Given the description of an element on the screen output the (x, y) to click on. 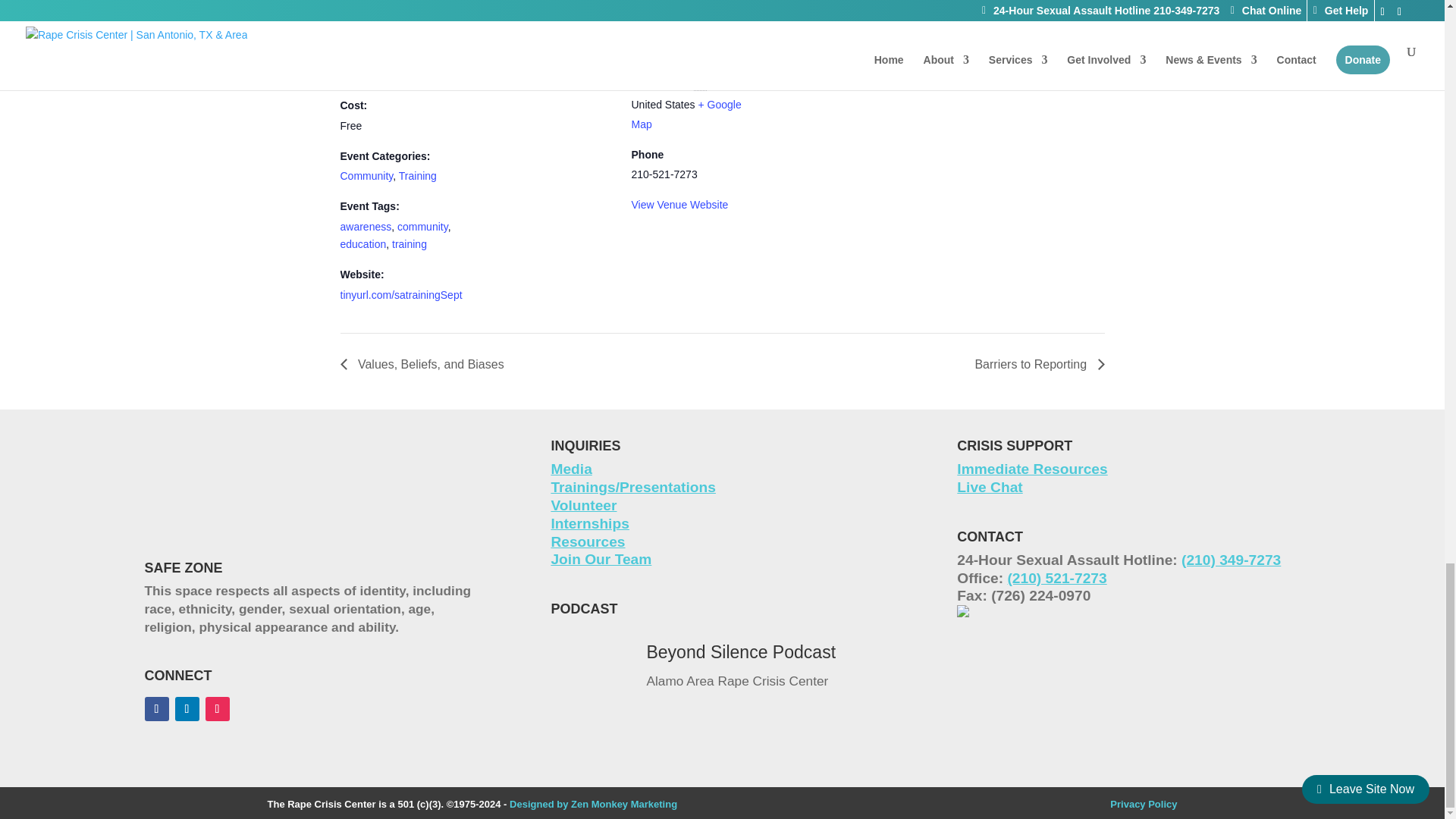
Follow on LinkedIn (186, 708)
2023-09-28 (403, 75)
Texas (700, 84)
Click to view a Google Map (685, 114)
2023-09-28 (387, 24)
Follow on Instagram (216, 708)
Follow on Facebook (156, 708)
